Given the description of an element on the screen output the (x, y) to click on. 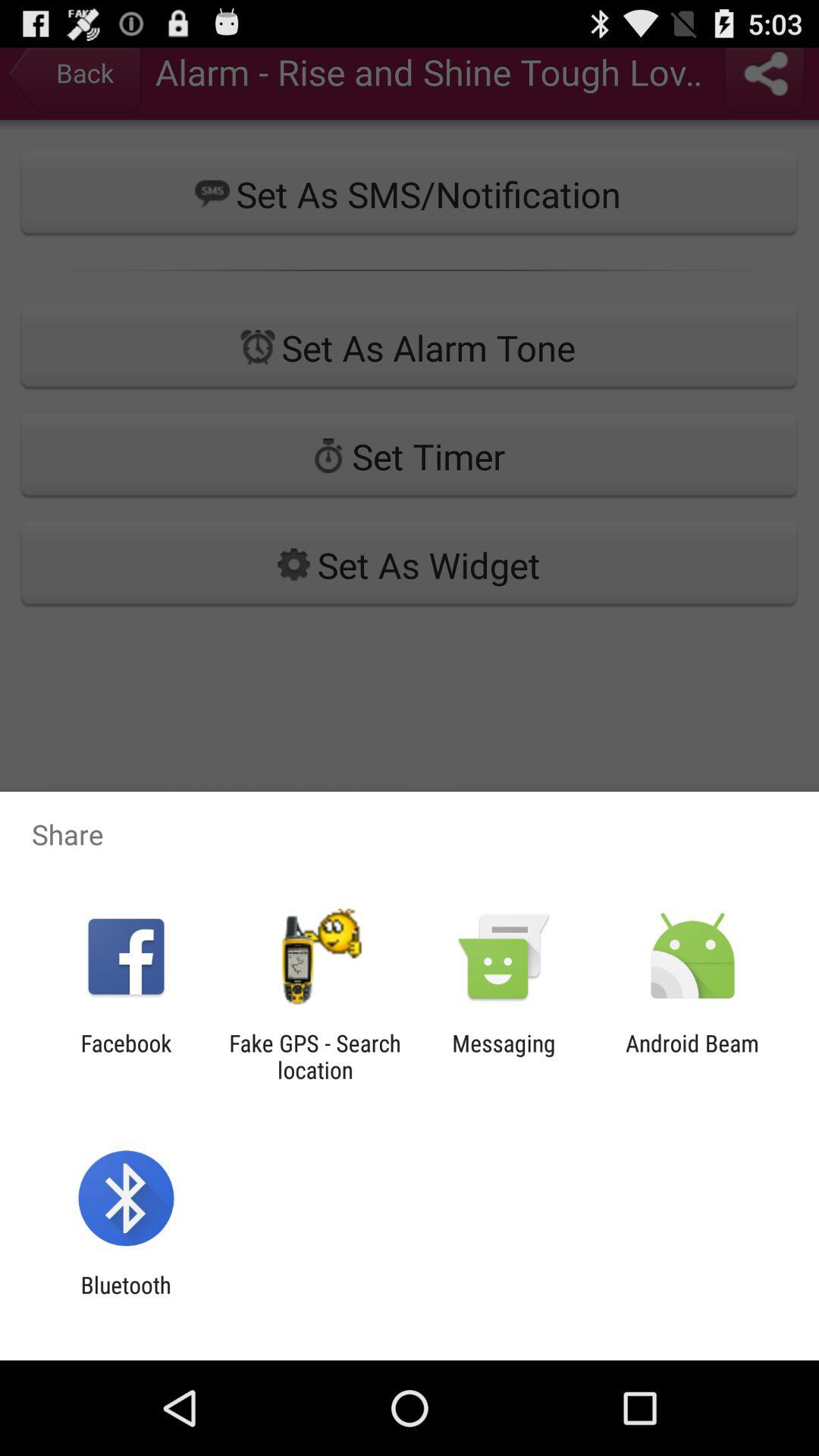
flip to bluetooth app (125, 1298)
